Given the description of an element on the screen output the (x, y) to click on. 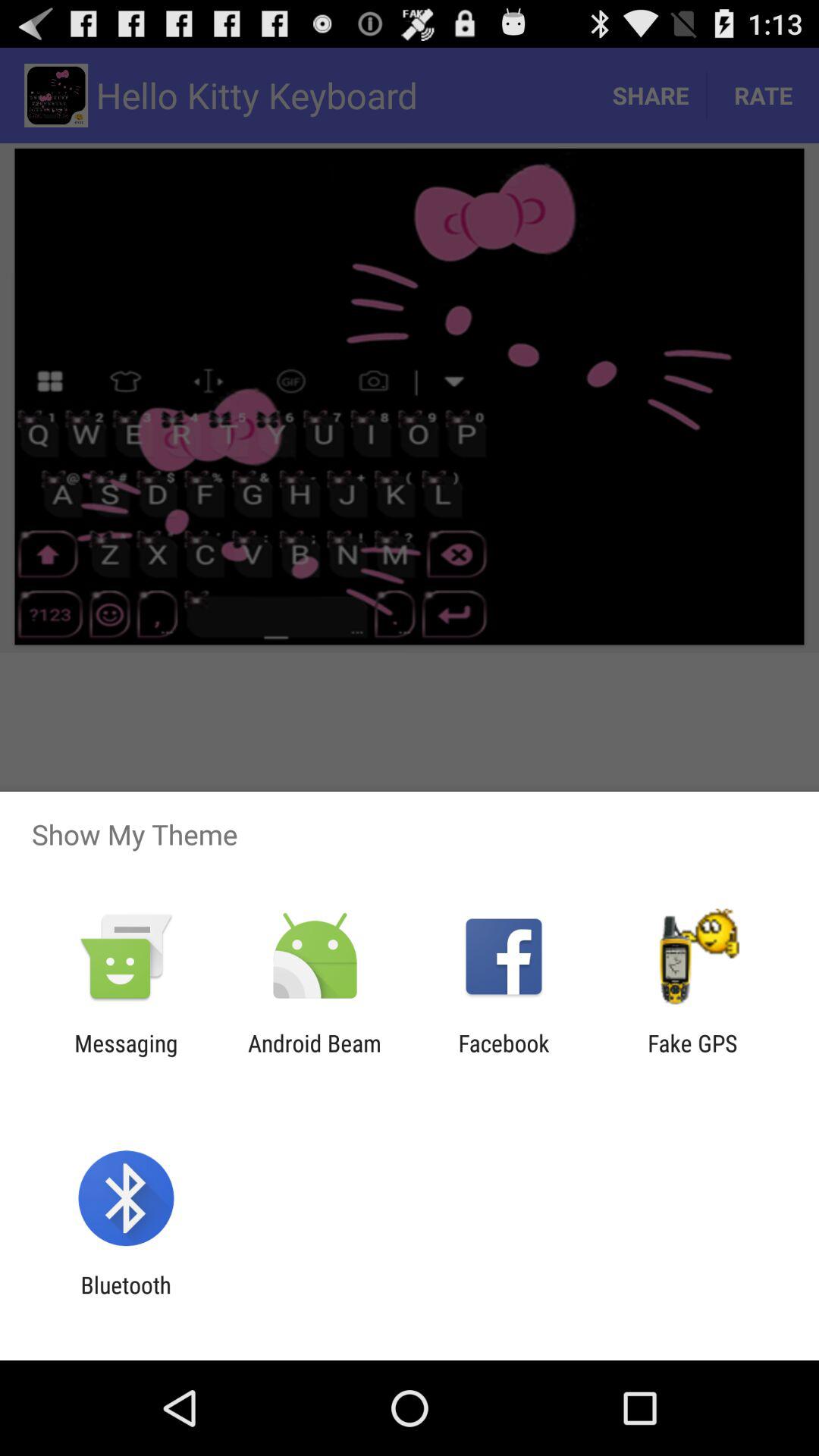
open item next to messaging item (314, 1056)
